Given the description of an element on the screen output the (x, y) to click on. 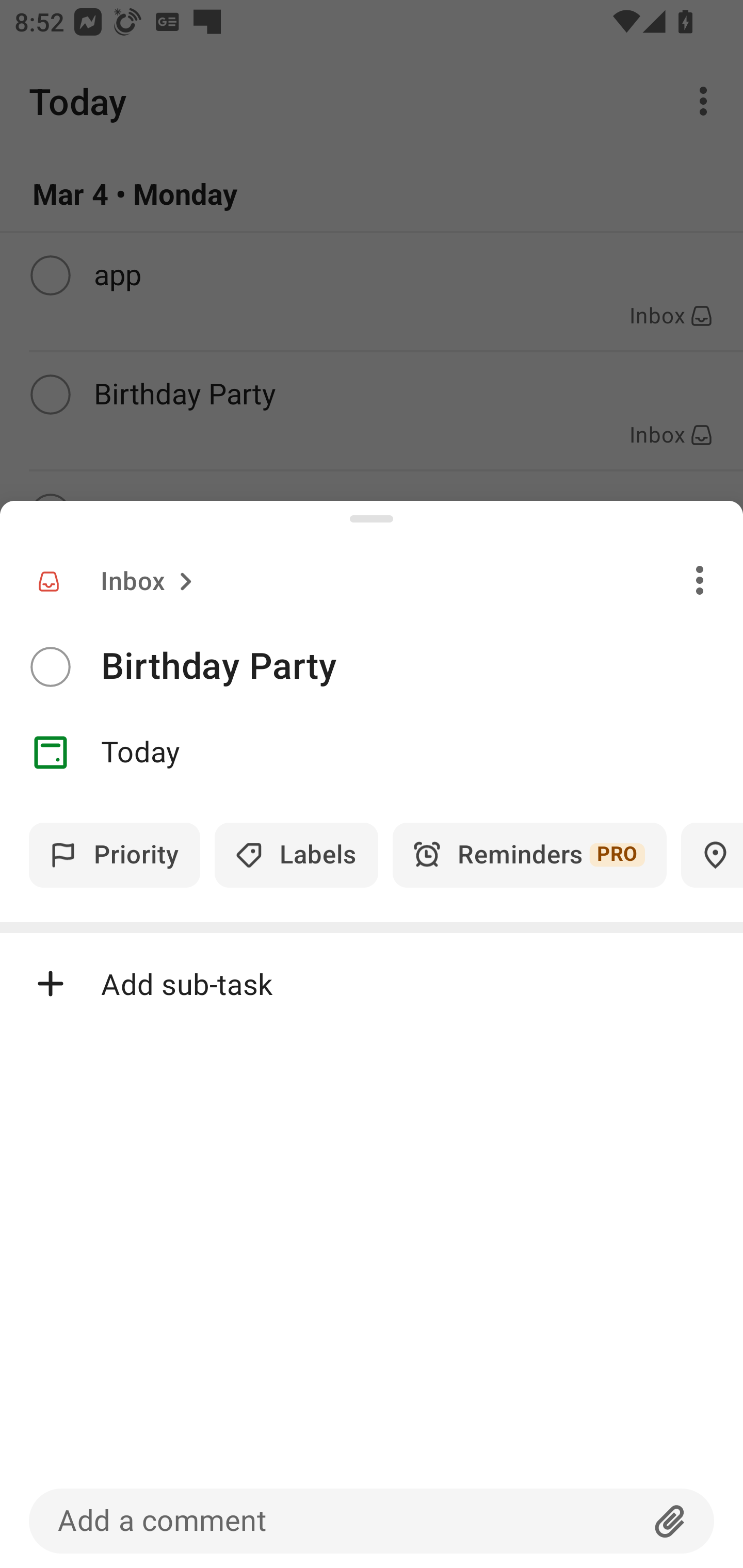
Overflow menu (699, 580)
Complete (50, 667)
Birthday Party​ (422, 666)
Date Today (371, 752)
Priority (113, 855)
Labels (296, 855)
Reminders PRO (529, 855)
Locations PRO (712, 855)
Add sub-task (371, 983)
Add a comment Attachment (371, 1520)
Attachment (670, 1520)
